Given the description of an element on the screen output the (x, y) to click on. 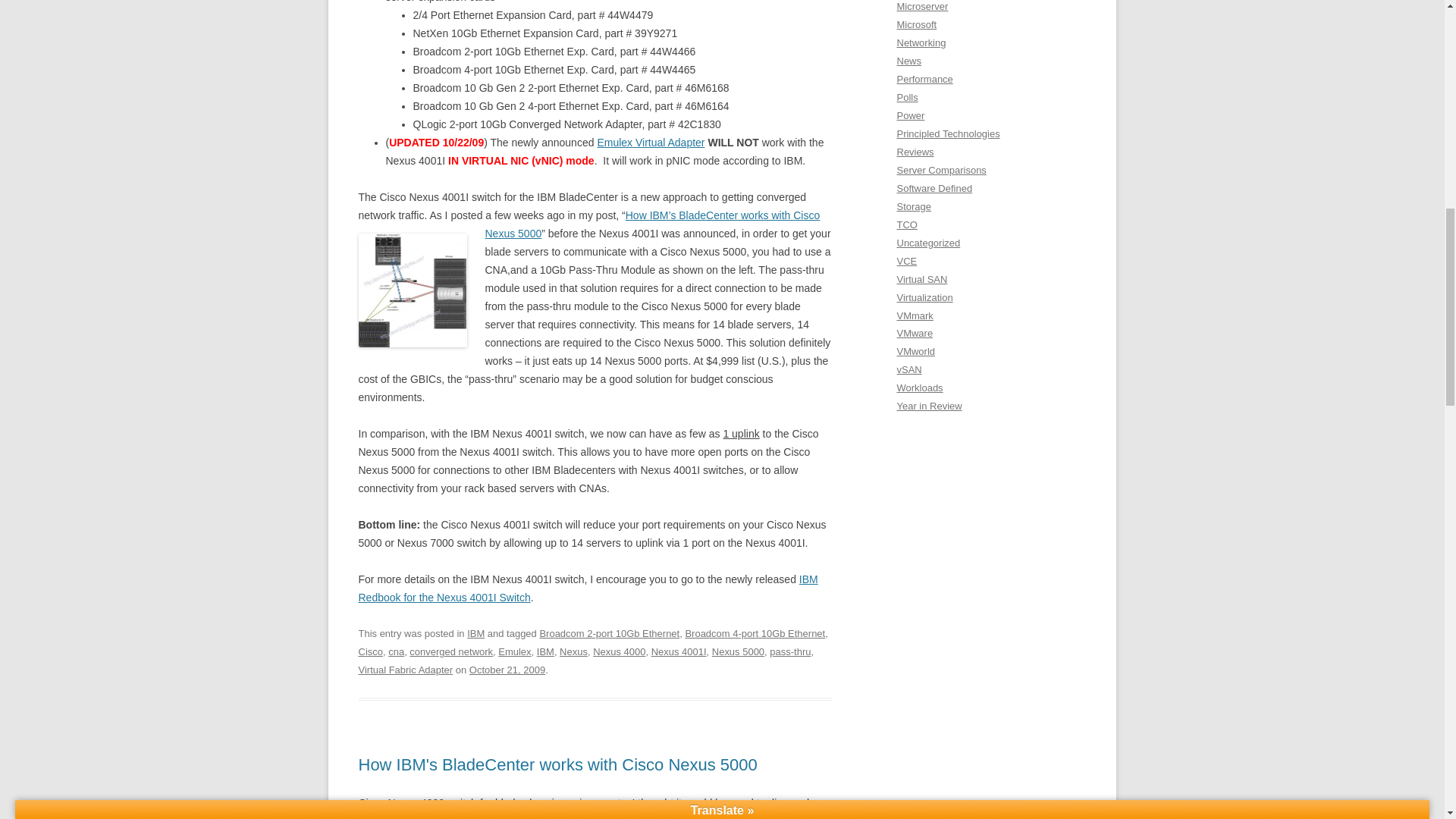
Cisco Nexus 5000 (652, 224)
cna (396, 651)
Cisco (369, 651)
10:04 am (506, 669)
Emulex (514, 651)
IBM (545, 651)
IBM Redbook for the Nexus 4001I Switch (587, 588)
Emulex Virtual Adapter (650, 142)
Broadcom 4-port 10Gb Ethernet (754, 633)
converged network (451, 651)
BladeCenter H Diagram 6 x 10Gb Uplinks (411, 289)
Broadcom 2-port 10Gb Ethernet (608, 633)
IBM (475, 633)
